Given the description of an element on the screen output the (x, y) to click on. 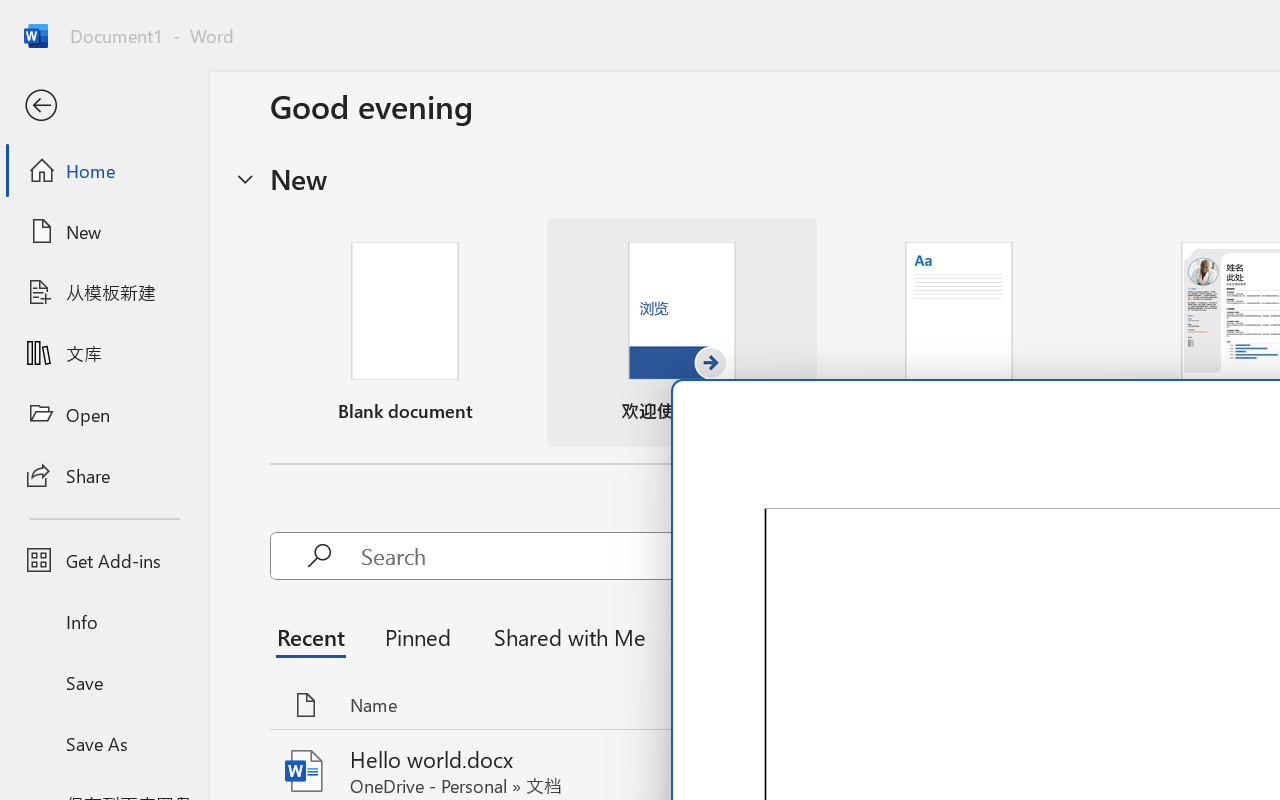
Save As (104, 743)
Hide or show region (245, 178)
